Given the description of an element on the screen output the (x, y) to click on. 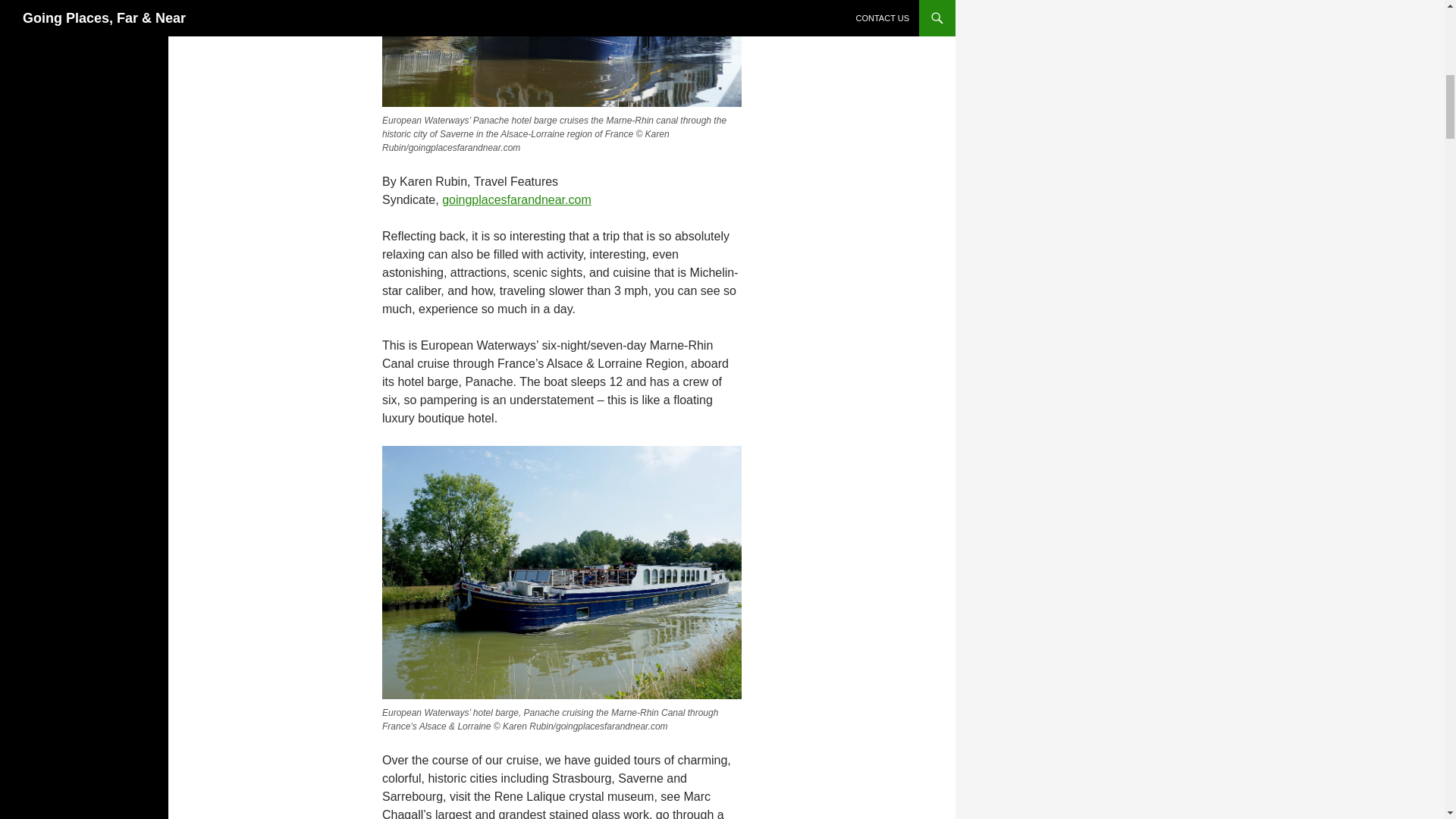
goingplacesfarandnear.com (516, 199)
